Given the description of an element on the screen output the (x, y) to click on. 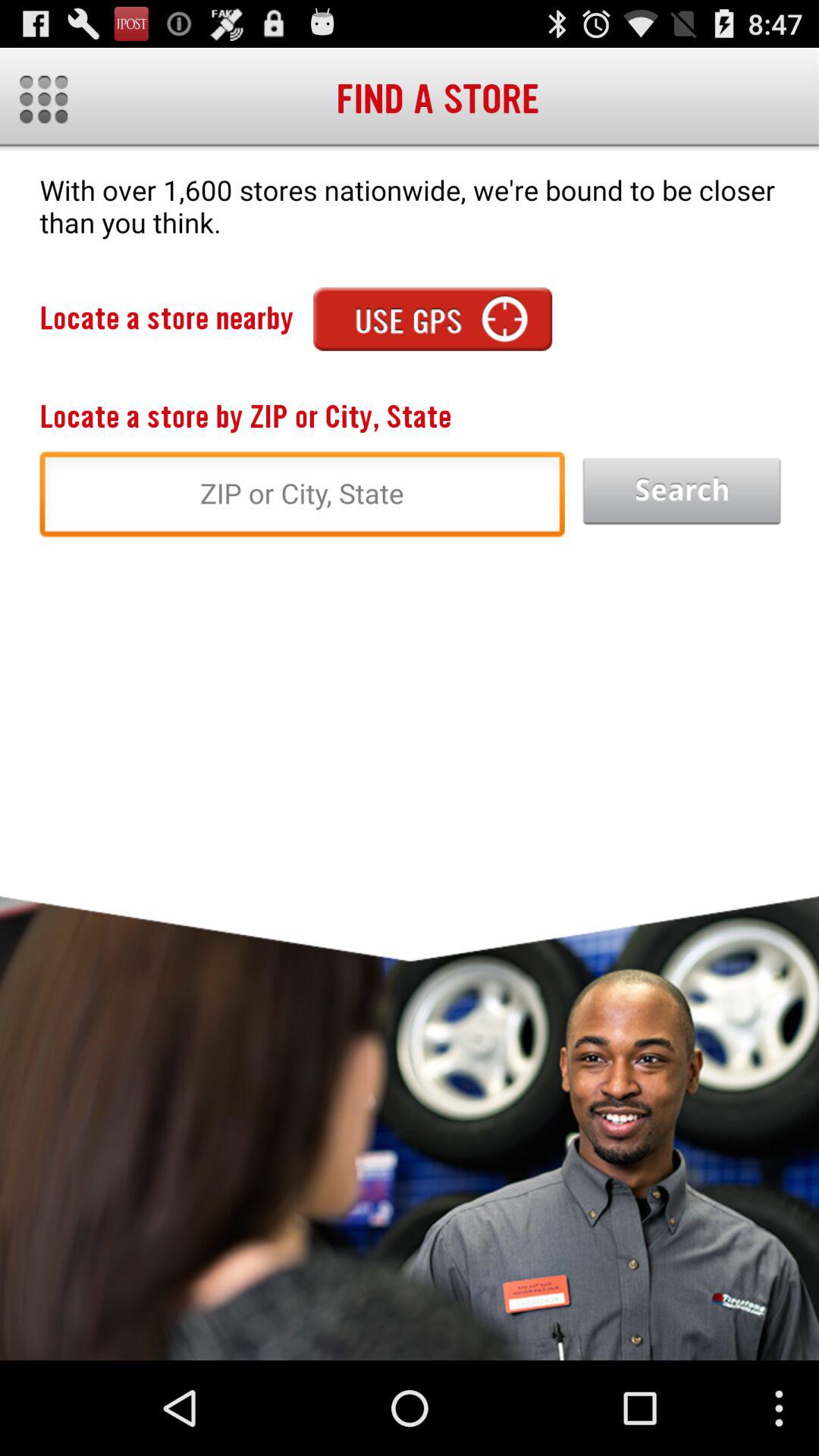
open app next to the locate a store icon (432, 318)
